Given the description of an element on the screen output the (x, y) to click on. 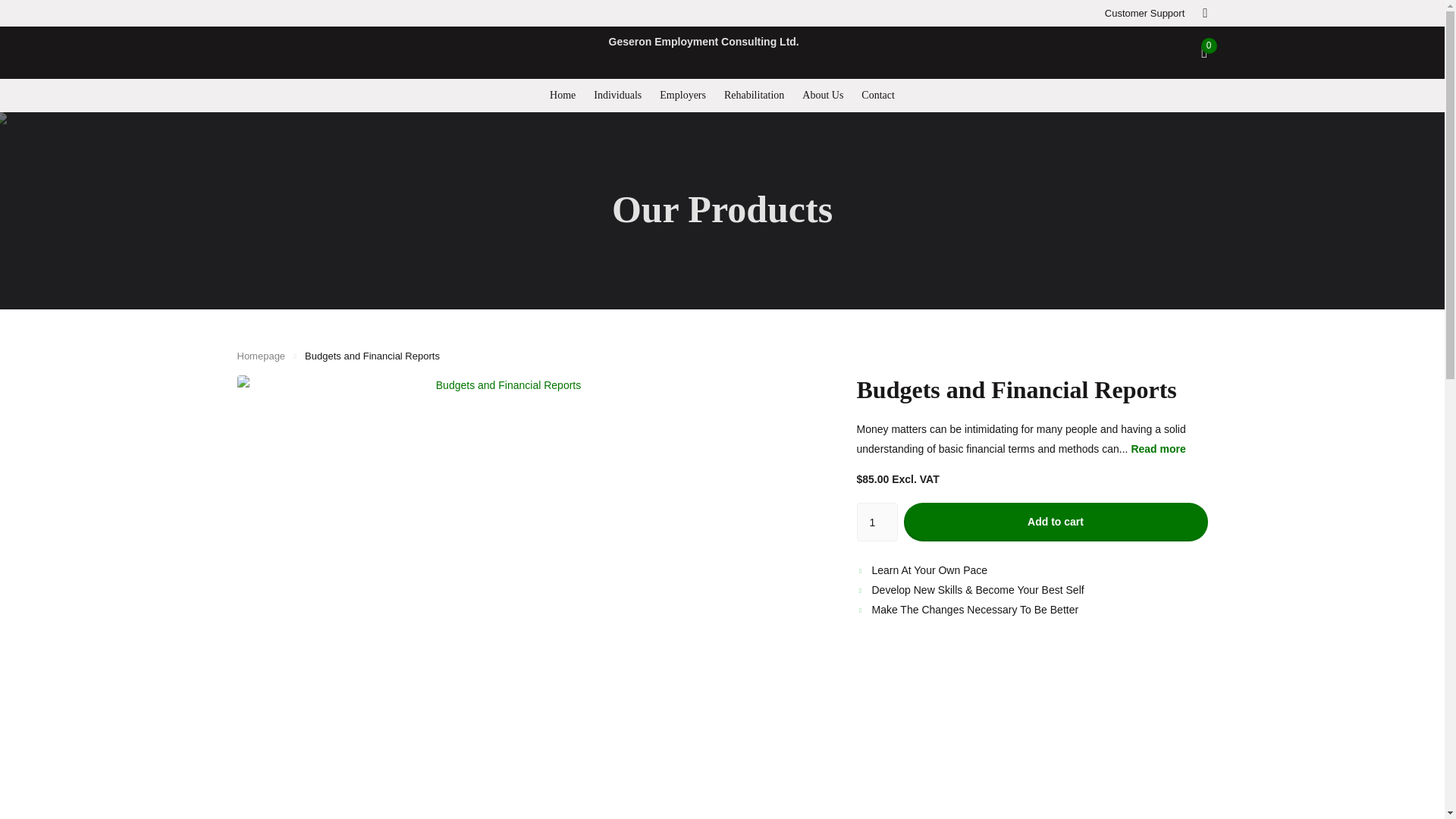
Employers (682, 95)
Home (260, 355)
Individuals (618, 95)
1 (877, 521)
Customer Support (1145, 13)
